Given the description of an element on the screen output the (x, y) to click on. 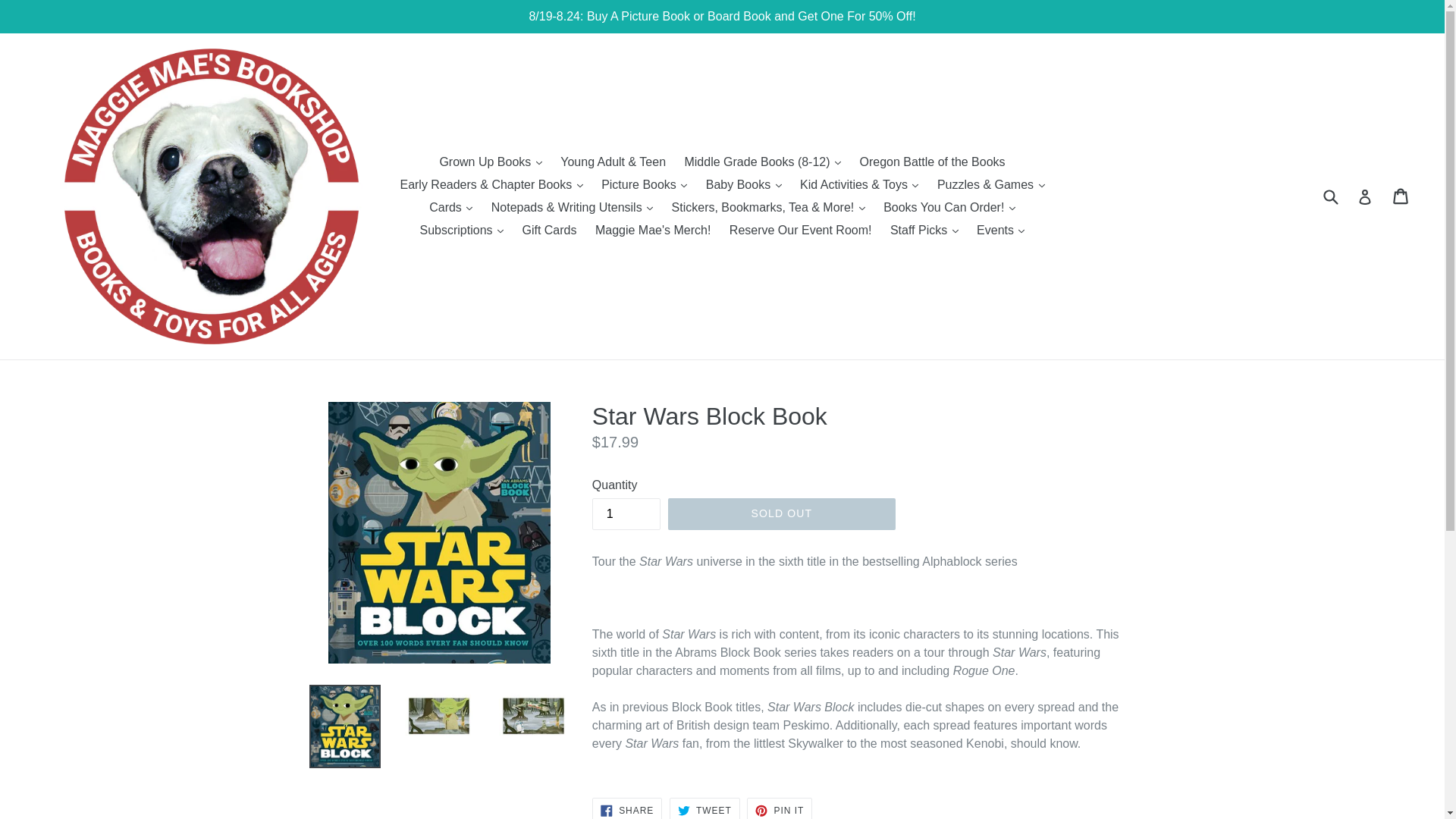
Share on Facebook (627, 808)
Pin on Pinterest (779, 808)
Tweet on Twitter (704, 808)
1 (626, 513)
